Given the description of an element on the screen output the (x, y) to click on. 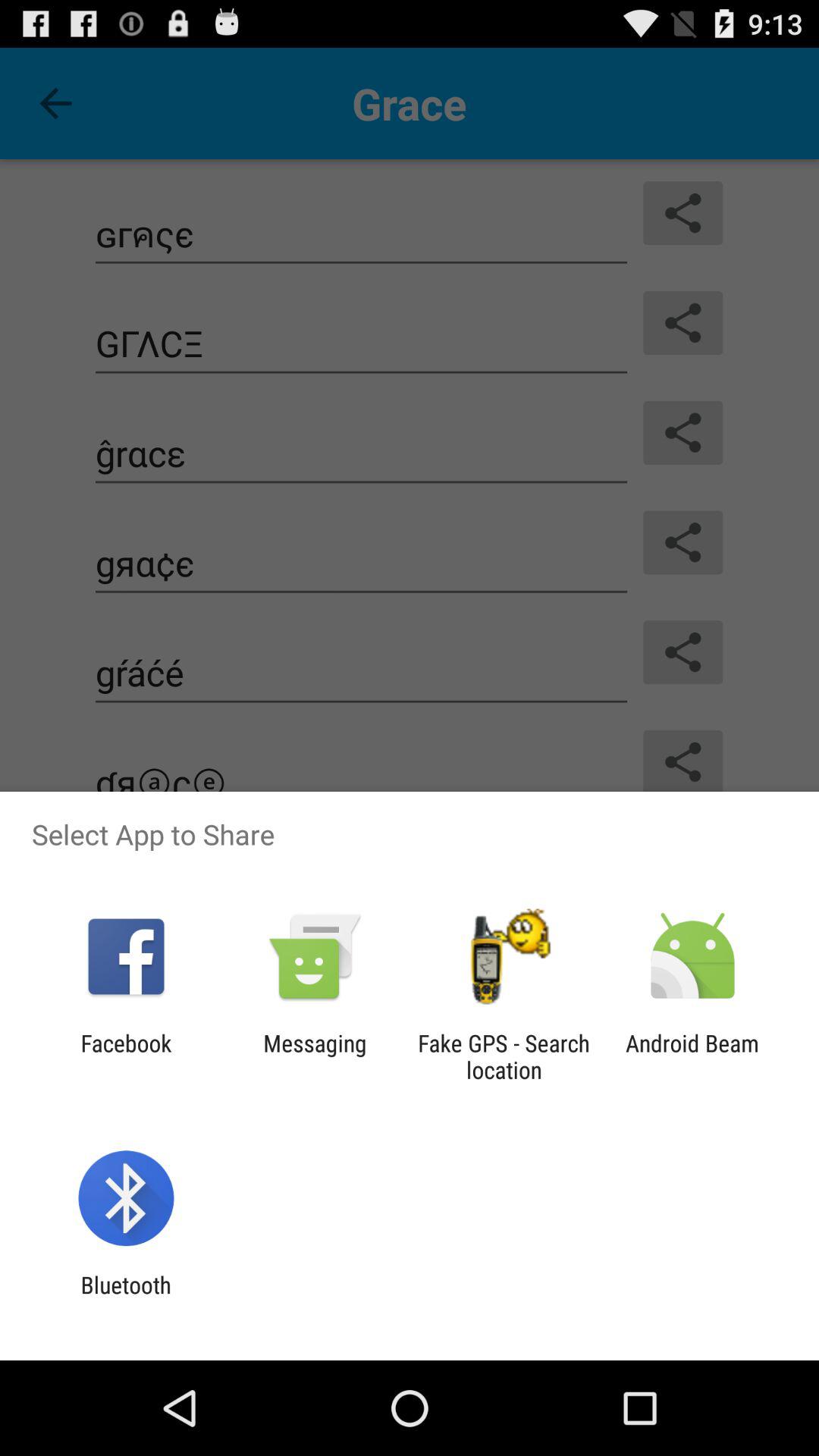
turn on the item to the right of the messaging app (503, 1056)
